Given the description of an element on the screen output the (x, y) to click on. 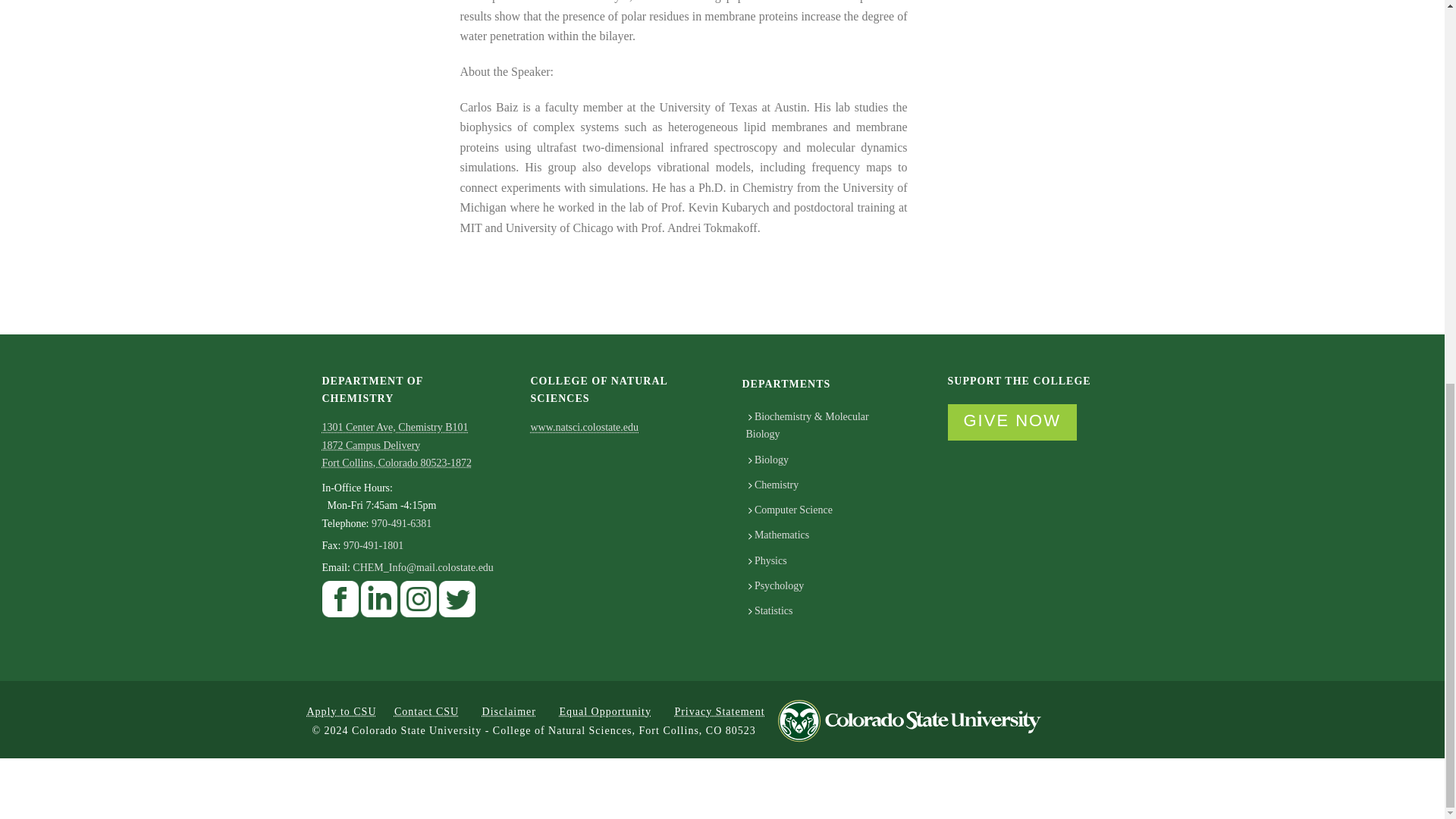
Follow Us on Twitter (457, 603)
Follow Us on facebook (339, 603)
Follow Us on instagram (418, 603)
Follow Us on linkedin (379, 603)
